Given the description of an element on the screen output the (x, y) to click on. 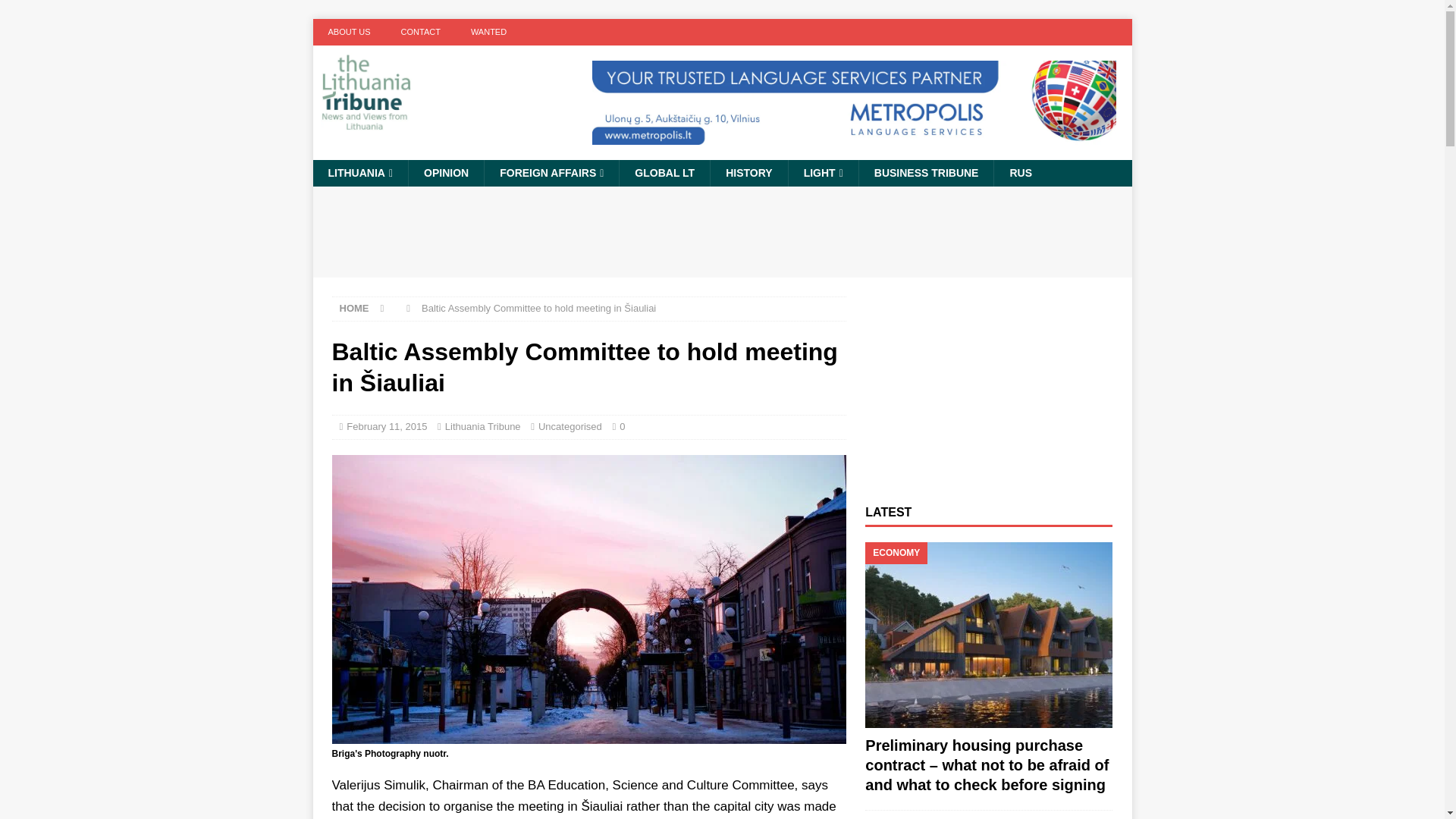
LITHUANIA (360, 172)
WANTED (488, 31)
CONTACT (420, 31)
ABOUT US (349, 31)
